Given the description of an element on the screen output the (x, y) to click on. 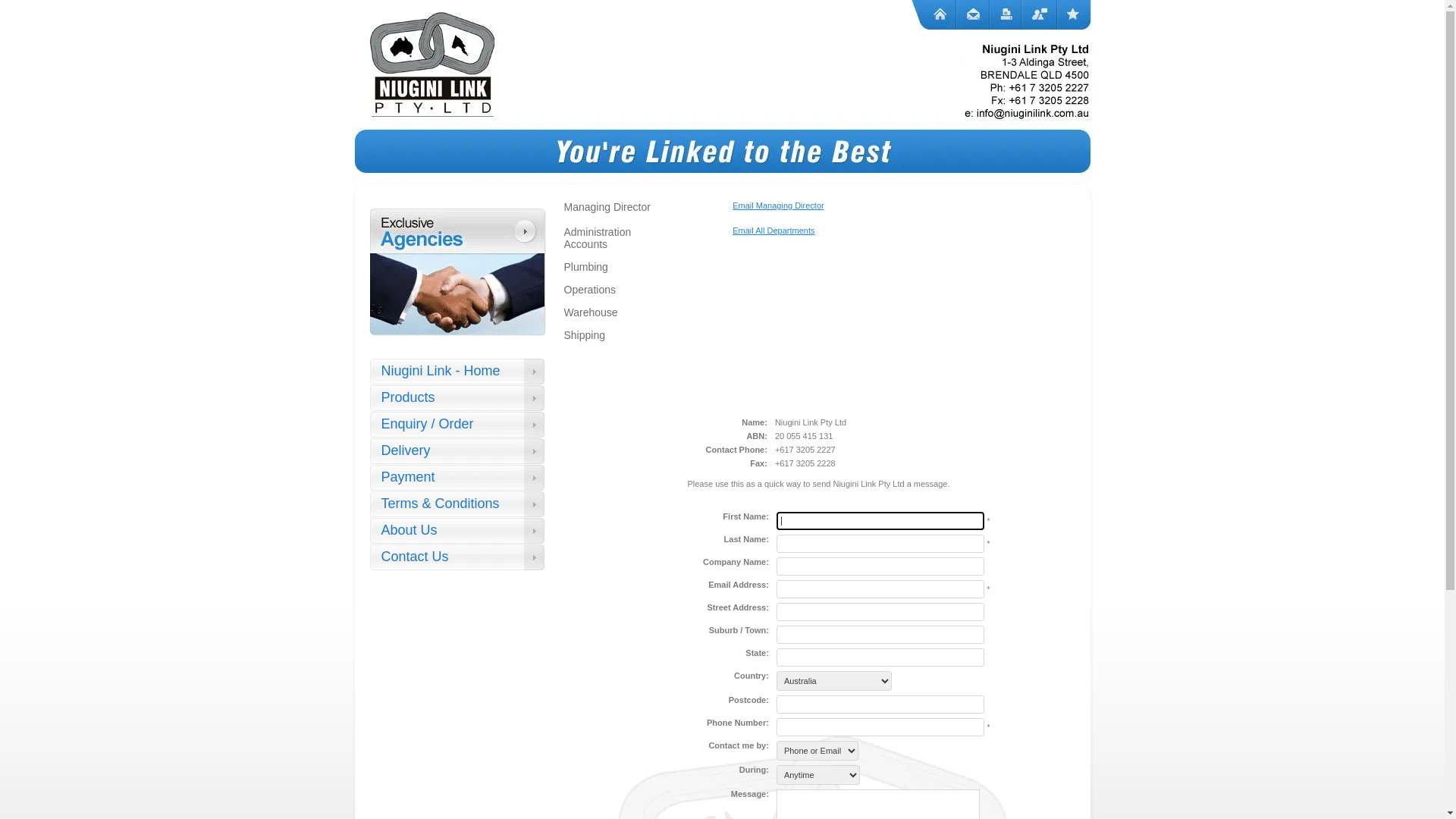
Email All Departments Element type: text (773, 230)
Terms & Conditions Element type: text (457, 504)
Payment Element type: text (457, 477)
Products Element type: text (457, 398)
Email Managing Director Element type: text (777, 205)
About Us Element type: text (457, 530)
Contact Us Element type: text (457, 557)
Niugini Link - Home Element type: text (457, 371)
Delivery Element type: text (457, 451)
Enquiry / Order Element type: text (457, 424)
